Given the description of an element on the screen output the (x, y) to click on. 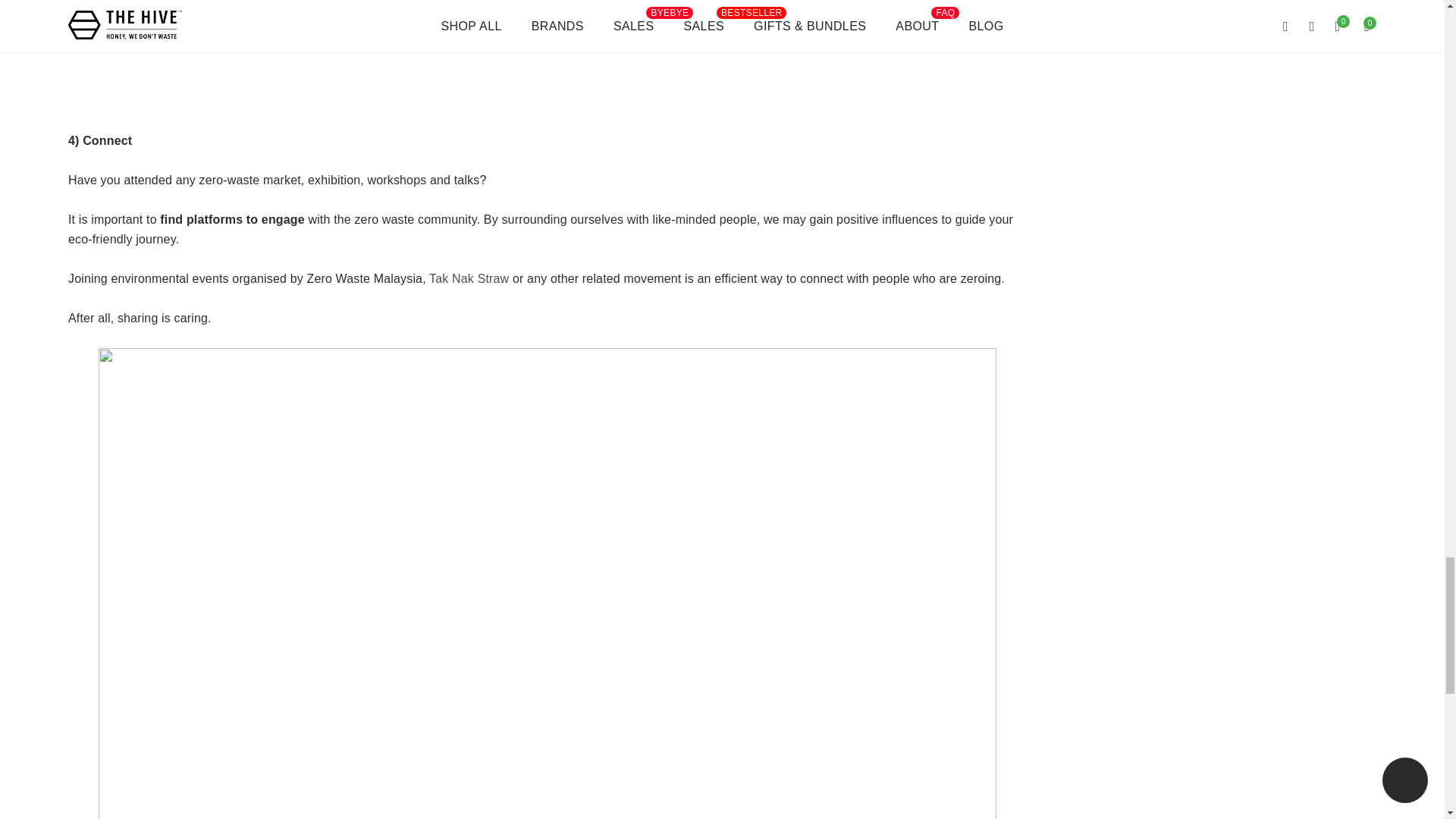
Welcome to The Hive Bangsar (485, 56)
